Given the description of an element on the screen output the (x, y) to click on. 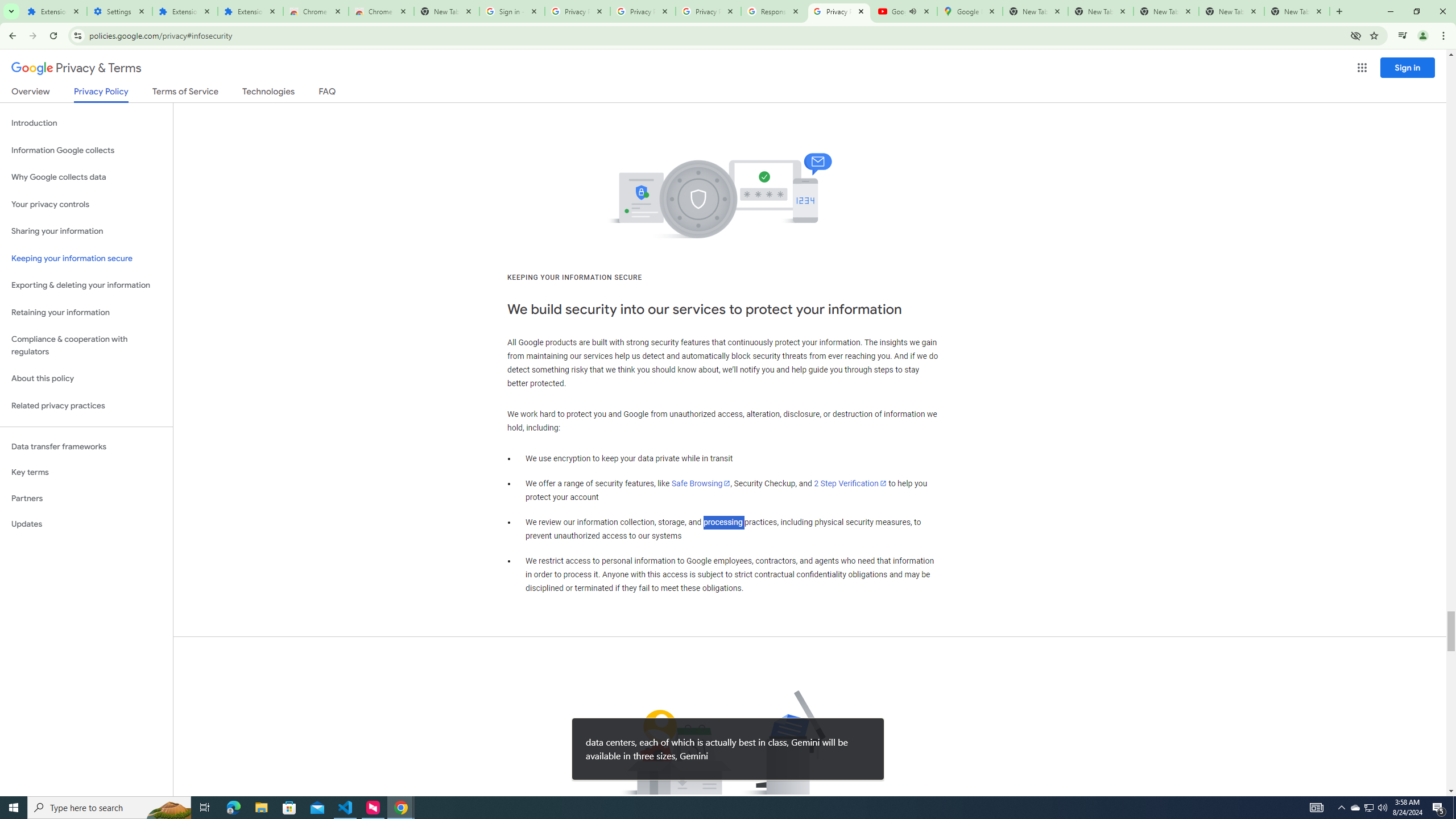
Technologies (268, 93)
New Tab (1297, 11)
Sharing your information (86, 230)
Partners (86, 497)
Safe Browsing (700, 483)
Exporting & deleting your information (86, 284)
Privacy & Terms (76, 68)
Information Google collects (86, 150)
Updates (86, 524)
Chrome Web Store (315, 11)
